Given the description of an element on the screen output the (x, y) to click on. 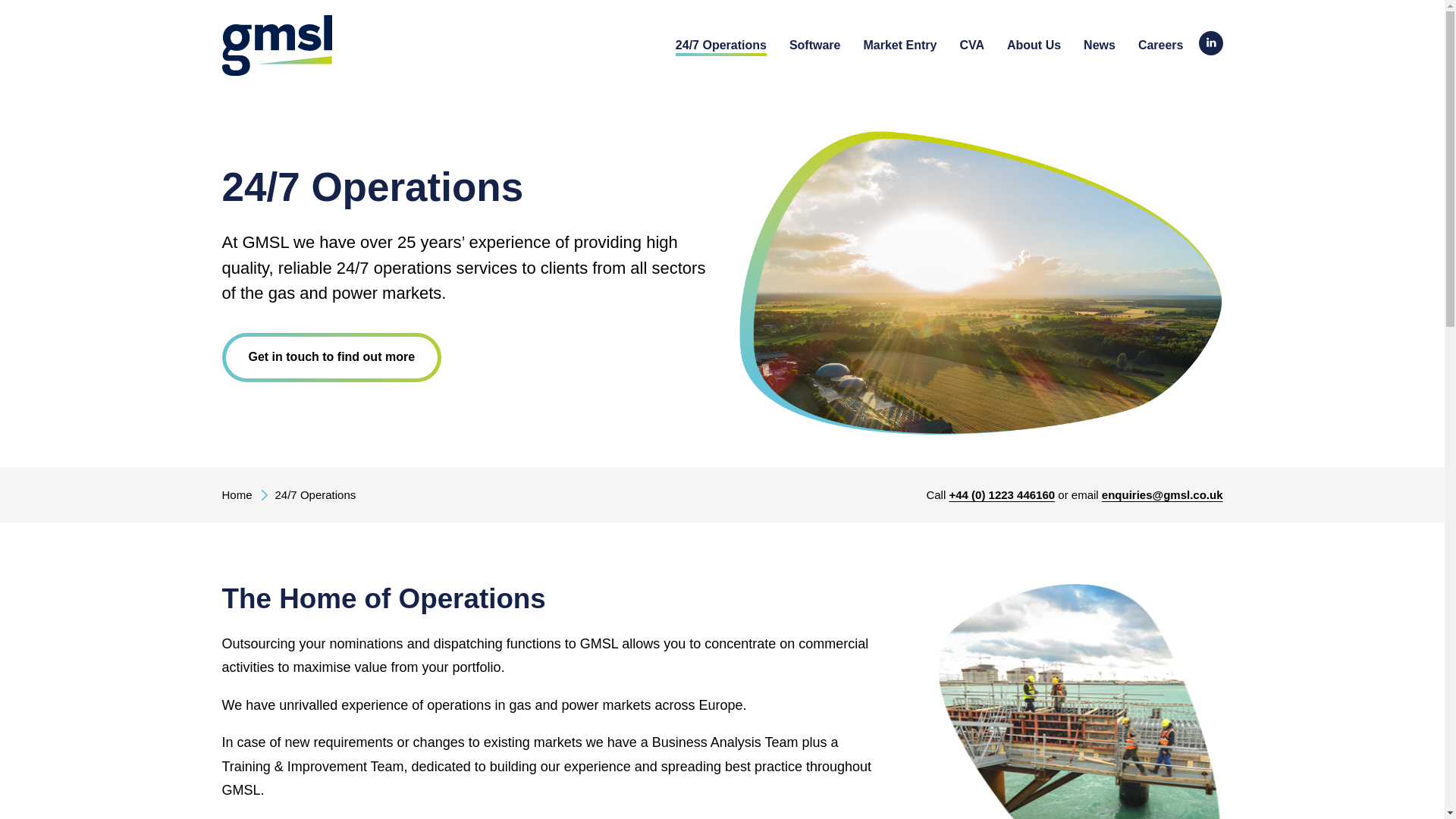
Get in touch to find out more (331, 357)
Careers (1160, 47)
Market Entry (899, 47)
News (1099, 47)
CVA (971, 47)
Software (815, 47)
Home (243, 494)
About Us (1034, 47)
GMSL (276, 45)
